Given the description of an element on the screen output the (x, y) to click on. 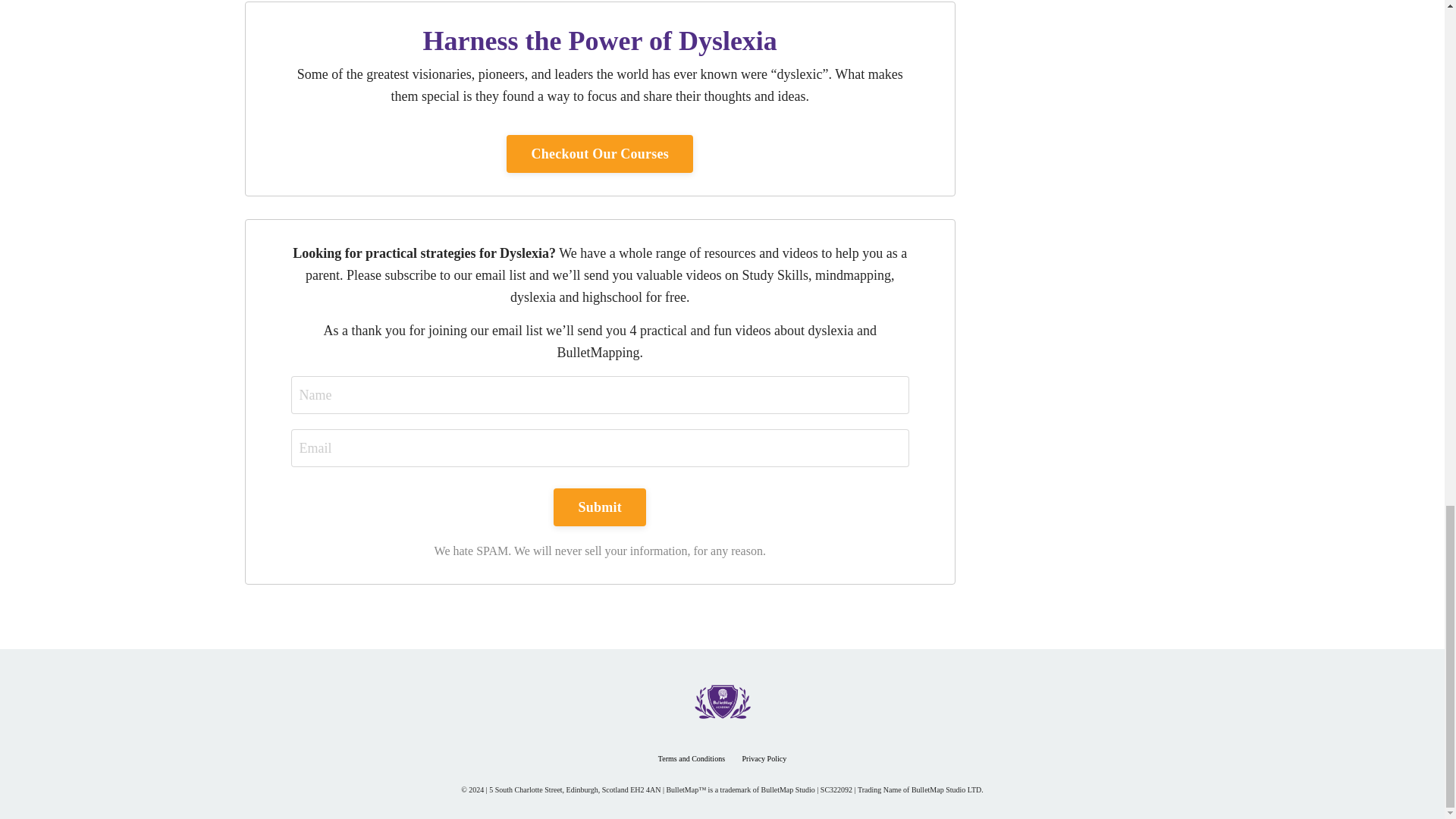
Submit (599, 507)
Submit (599, 507)
Checkout Our Courses (599, 153)
